Given the description of an element on the screen output the (x, y) to click on. 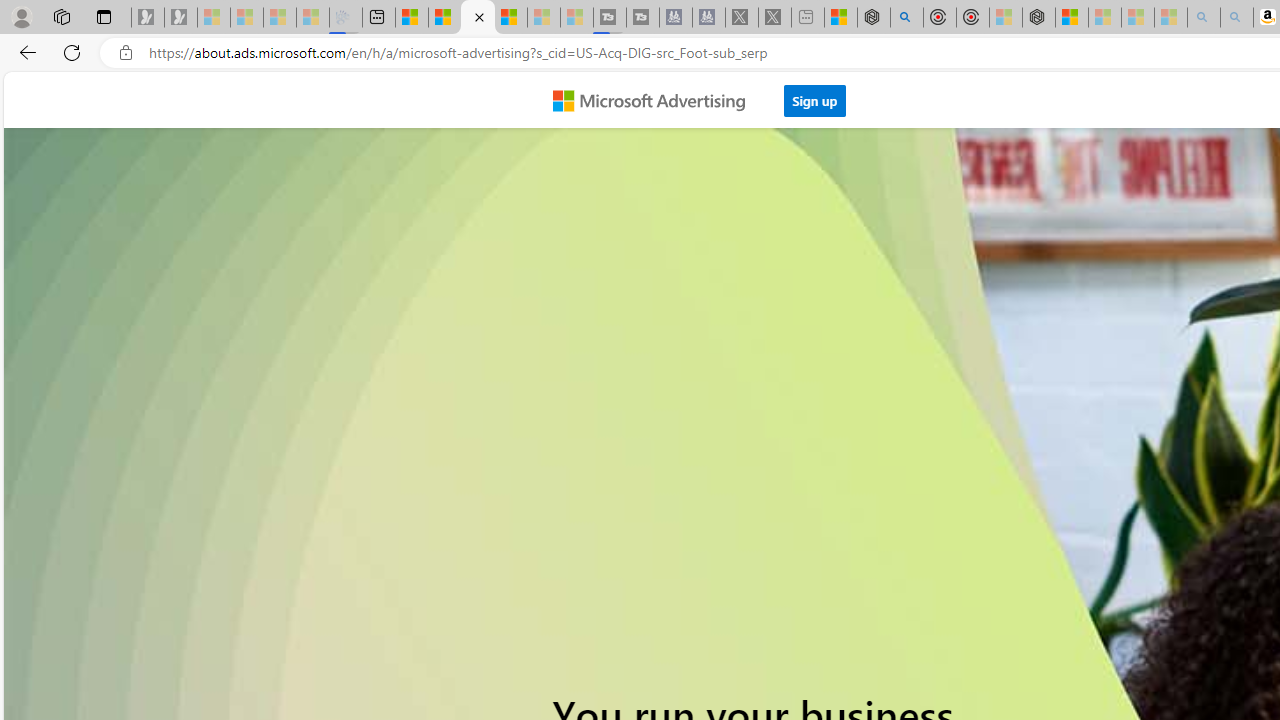
poe - Search (906, 17)
Streaming Coverage | T3 - Sleeping (609, 17)
Overview (478, 17)
